Given the description of an element on the screen output the (x, y) to click on. 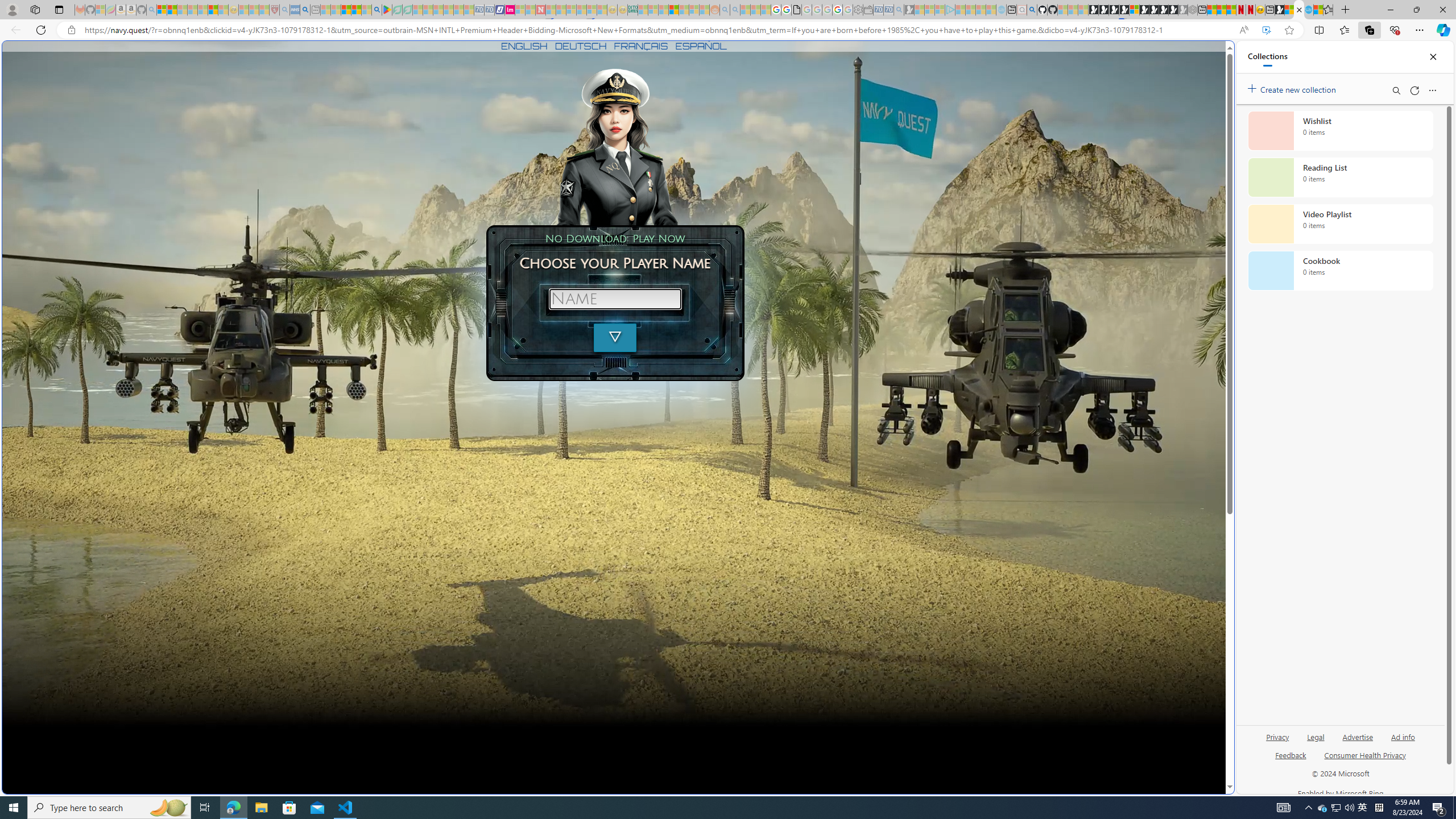
DEUTSCH (580, 45)
Search or enter web address (922, 108)
